Given the description of an element on the screen output the (x, y) to click on. 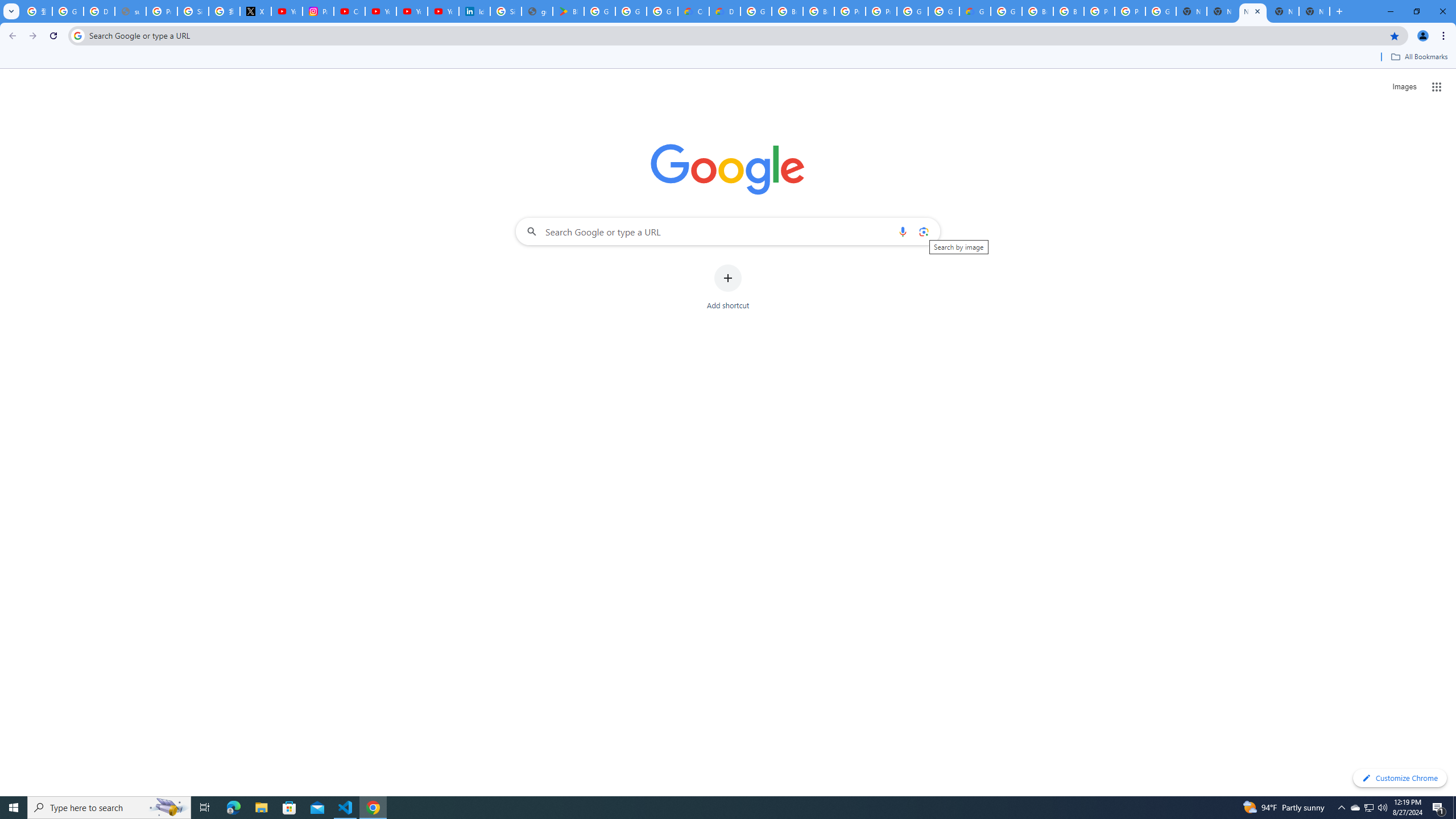
Search Google or type a URL (727, 230)
Google Cloud Platform (912, 11)
YouTube Culture & Trends - YouTube Top 10, 2021 (443, 11)
Google Cloud Platform (756, 11)
New Tab (1222, 11)
Browse Chrome as a guest - Computer - Google Chrome Help (1037, 11)
Bluey: Let's Play! - Apps on Google Play (568, 11)
